Given the description of an element on the screen output the (x, y) to click on. 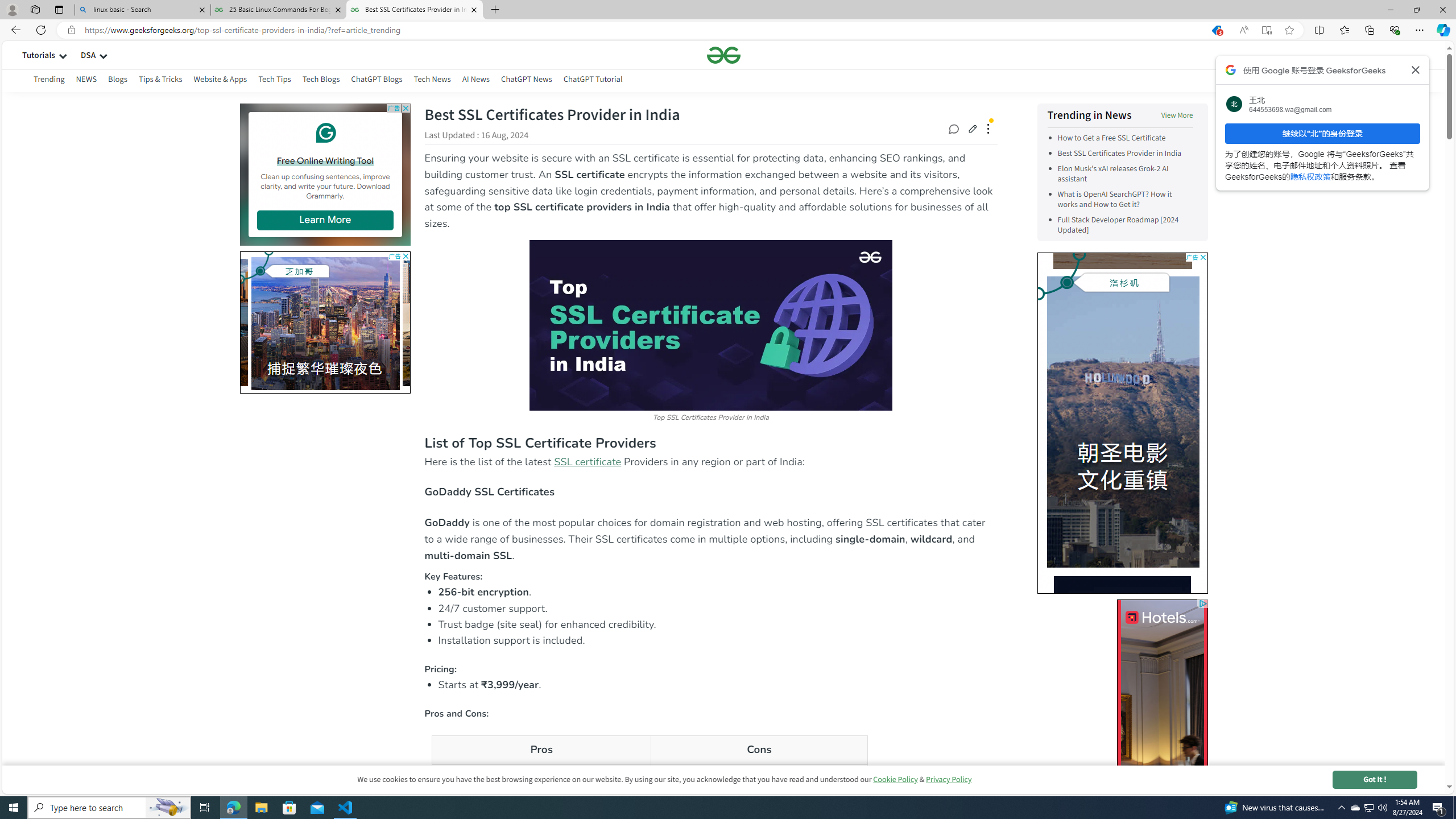
Learn More (324, 219)
Best SSL Certificates Provider in India - GeeksforGeeks (414, 9)
Best-SSL-Certificates-Provider-in-India (710, 324)
Best SSL Certificates Provider in India (1125, 153)
Blogs (116, 80)
NEWS (86, 80)
AI News (475, 80)
AutomationID: bg2 (172, 319)
